Given the description of an element on the screen output the (x, y) to click on. 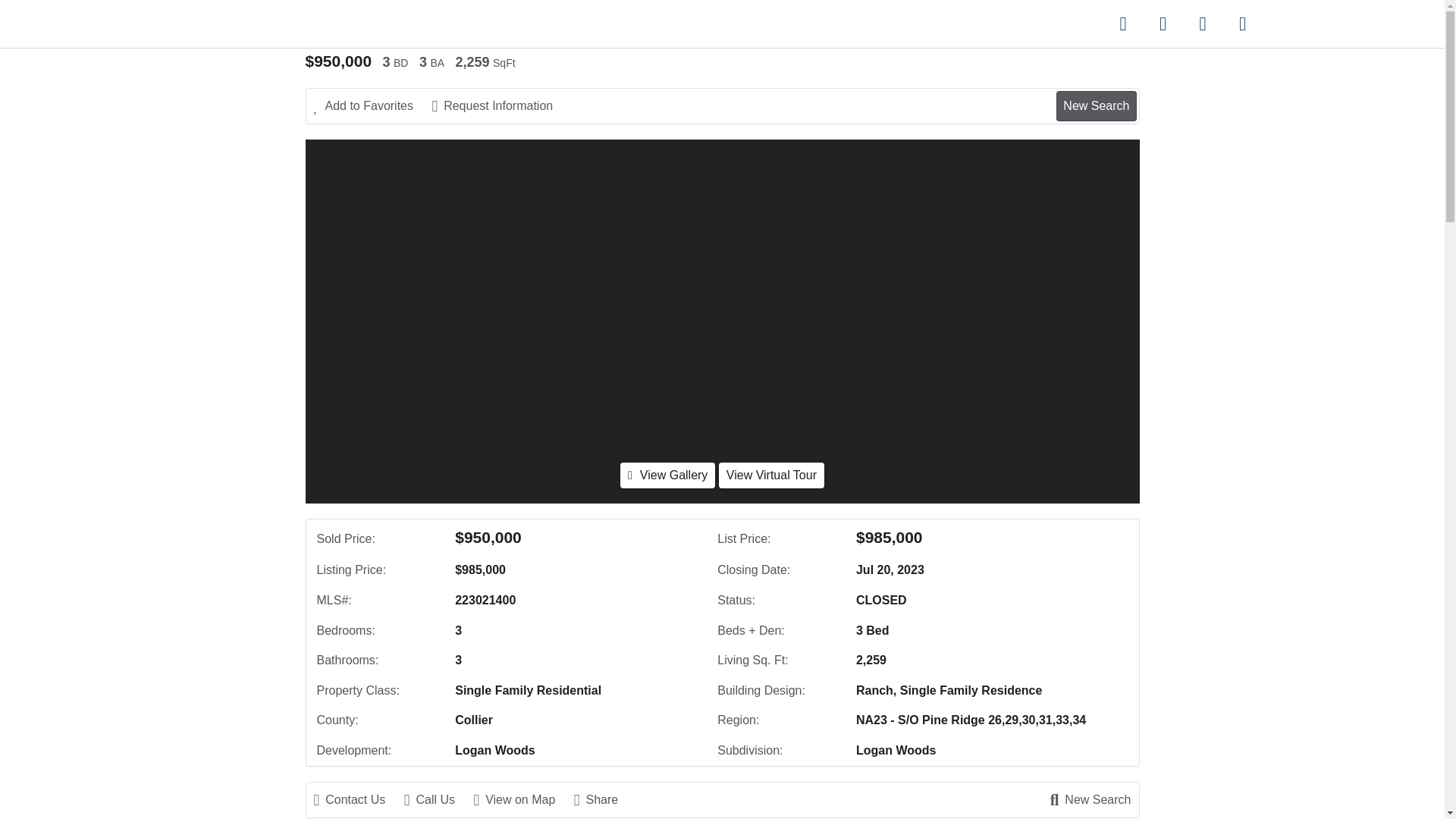
View Gallery (667, 475)
Call Us (437, 799)
View Virtual Tour (771, 474)
Share (603, 799)
Request Information (498, 106)
New Search (1096, 105)
View on Map (521, 799)
Contact Us (357, 799)
Add to Favorites (371, 106)
View Gallery (667, 474)
